Given the description of an element on the screen output the (x, y) to click on. 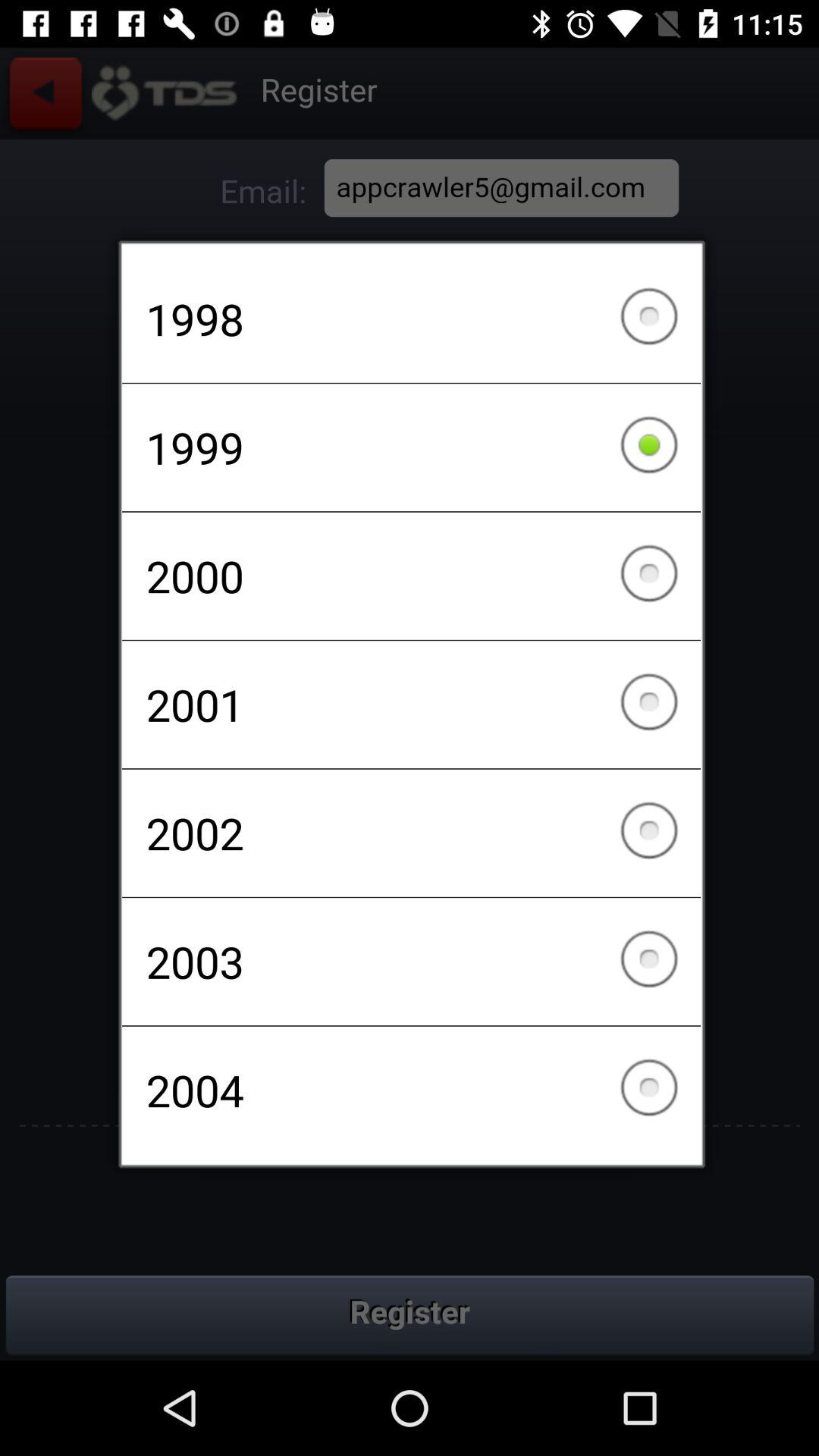
launch the checkbox above the 2001 icon (411, 575)
